Given the description of an element on the screen output the (x, y) to click on. 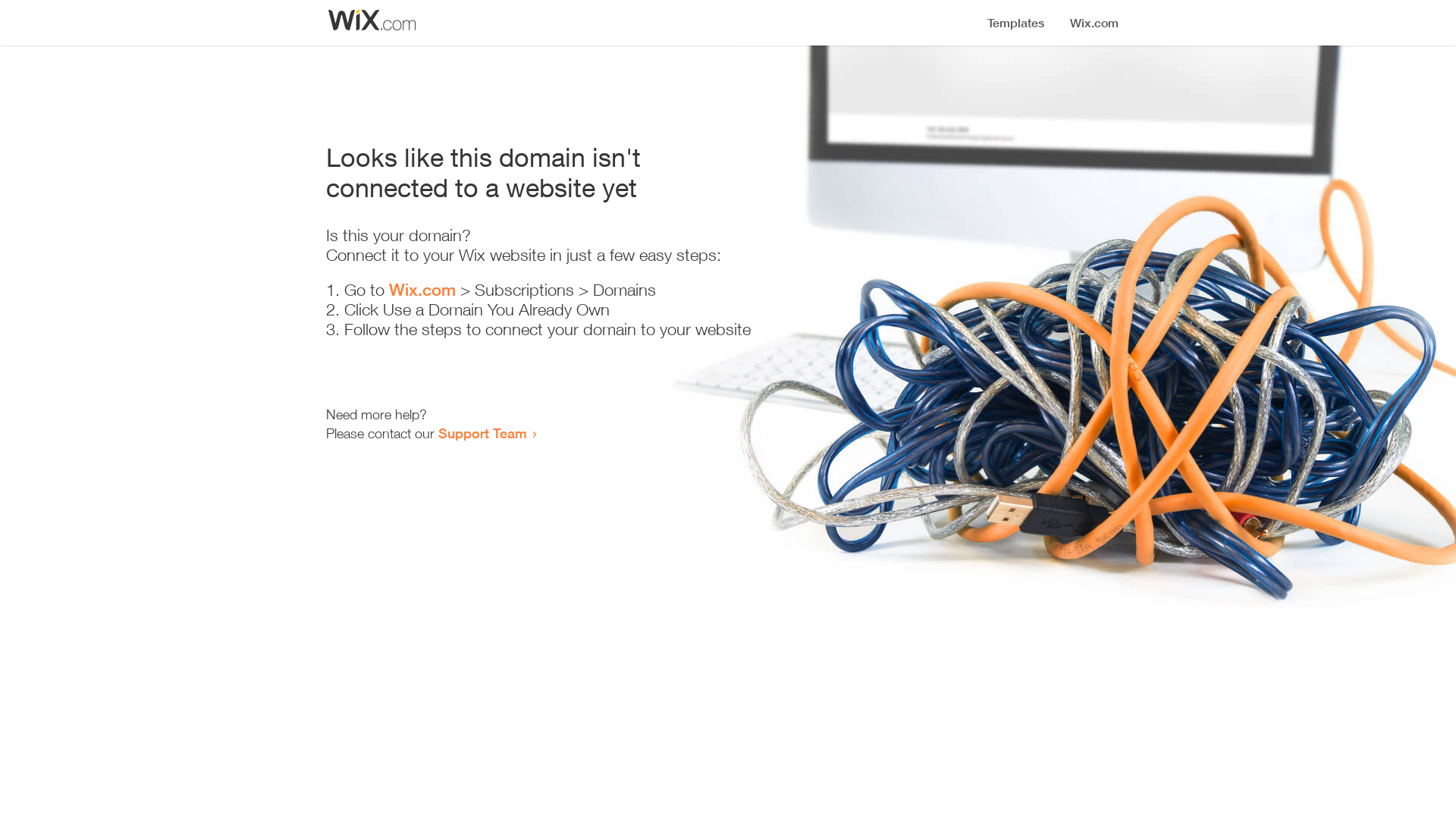
Wix.com Element type: text (422, 289)
Support Team Element type: text (482, 432)
